Given the description of an element on the screen output the (x, y) to click on. 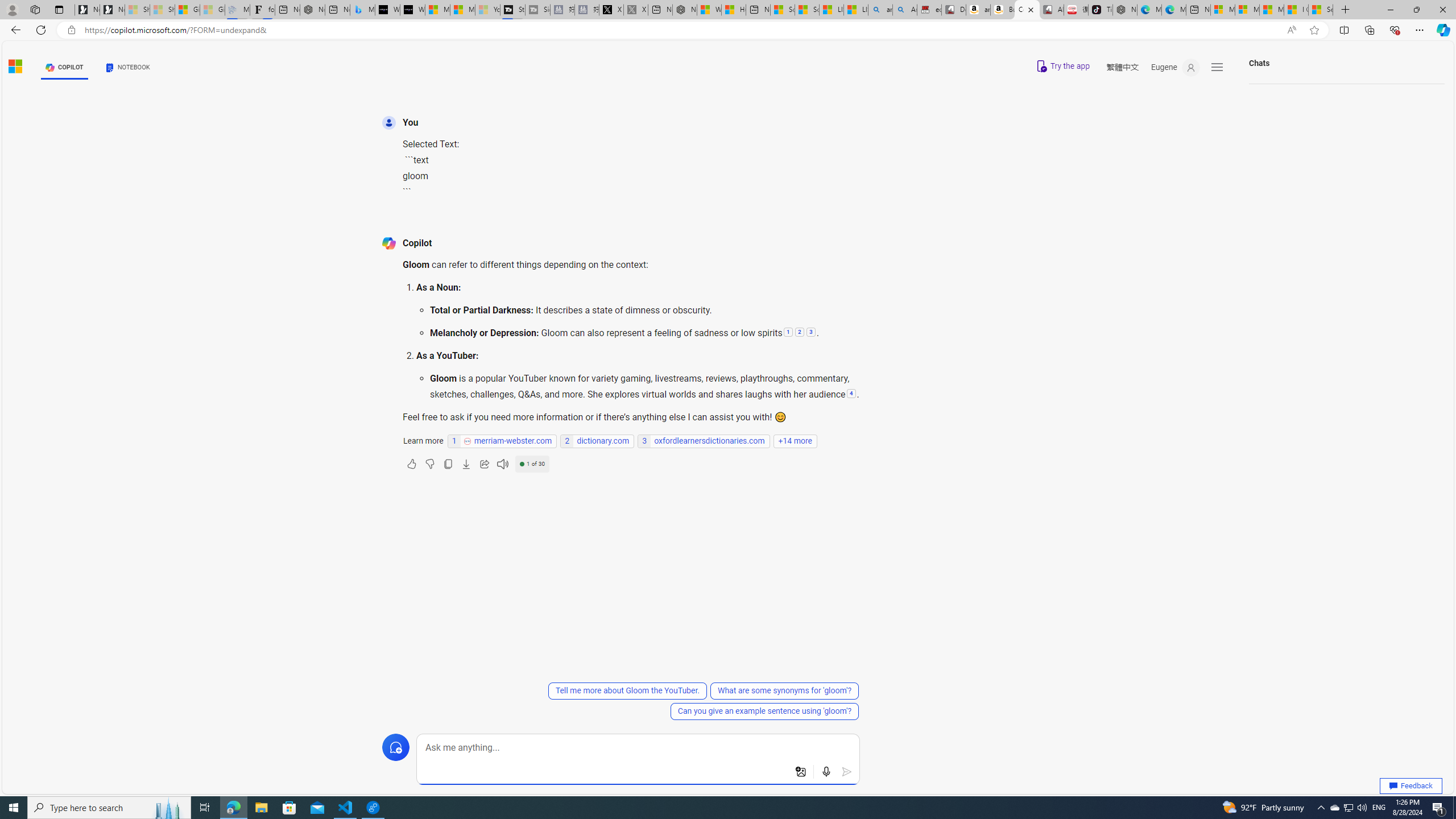
Settings and quick links (1217, 67)
amazon.in/dp/B0CX59H5W7/?tag=gsmcom05-21 (977, 9)
Use microphone (826, 771)
X - Sleeping (635, 9)
Wildlife - MSN (708, 9)
4: Gloom (850, 394)
Ask me anything... (637, 748)
X (611, 9)
Skip to content (36, 63)
